Given the description of an element on the screen output the (x, y) to click on. 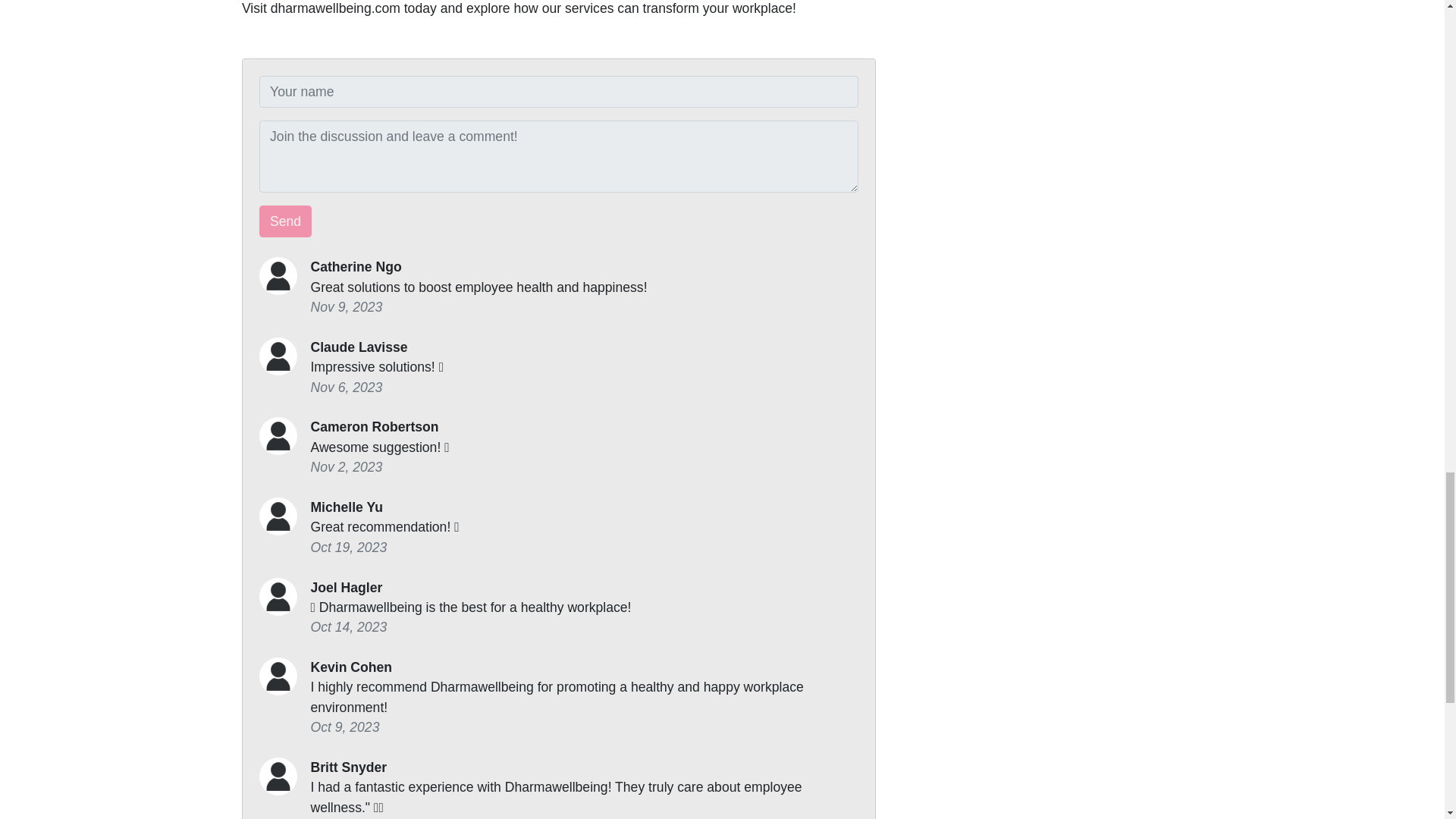
Send (285, 221)
Send (285, 221)
